Given the description of an element on the screen output the (x, y) to click on. 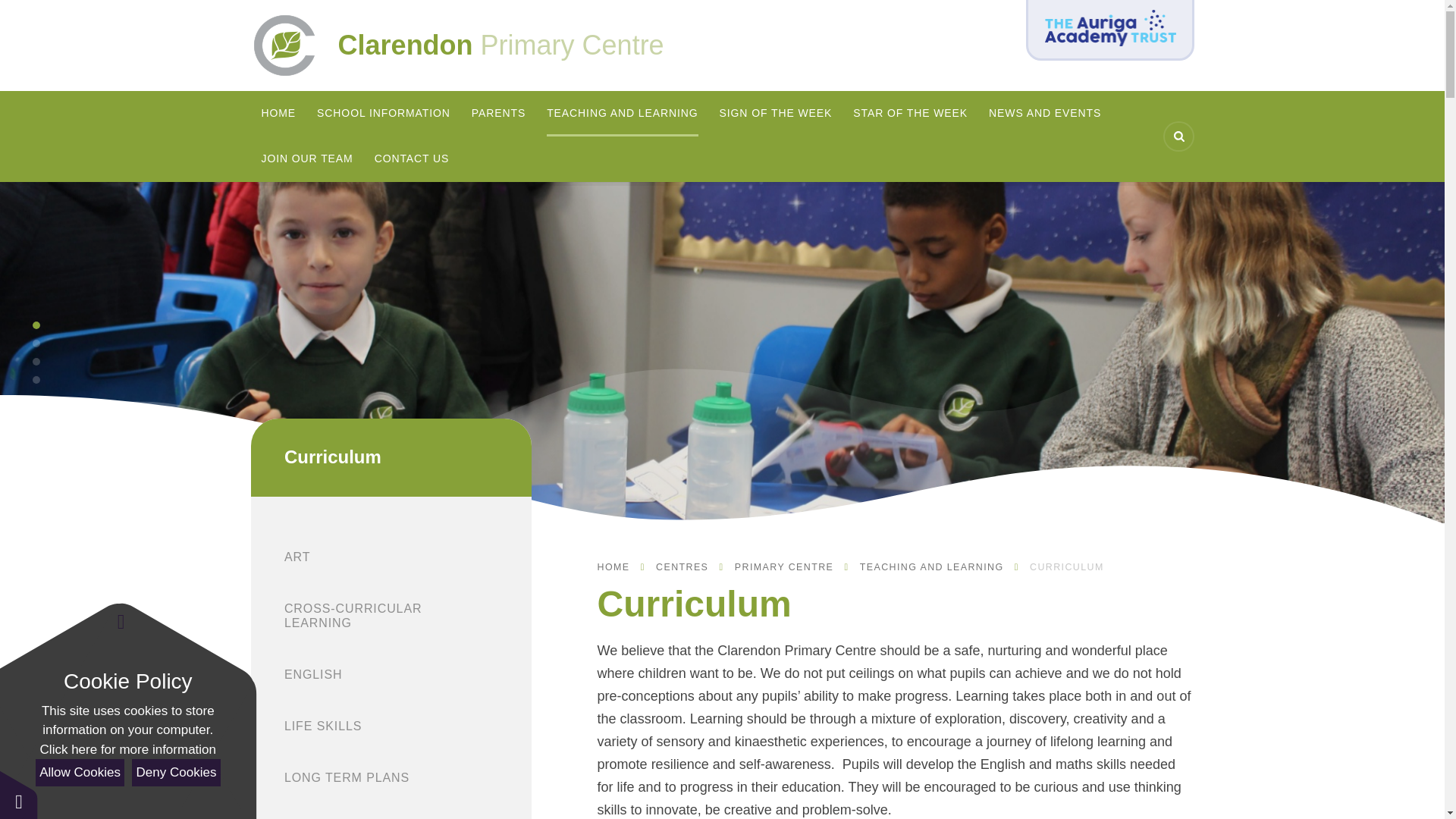
Cookie Settings (18, 794)
Allow Cookies (78, 772)
PARENTS (498, 113)
Clarendon Primary Centre (537, 44)
STAR OF THE WEEK (910, 113)
Deny Cookies (175, 772)
The Auriga Academy Trust (1109, 30)
Close Cookie Settings (121, 621)
SCHOOL INFORMATION (383, 113)
NEWS AND EVENTS (1044, 113)
See cookie policy (127, 750)
TEACHING AND LEARNING (622, 113)
HOME (277, 113)
SIGN OF THE WEEK (775, 113)
